Given the description of an element on the screen output the (x, y) to click on. 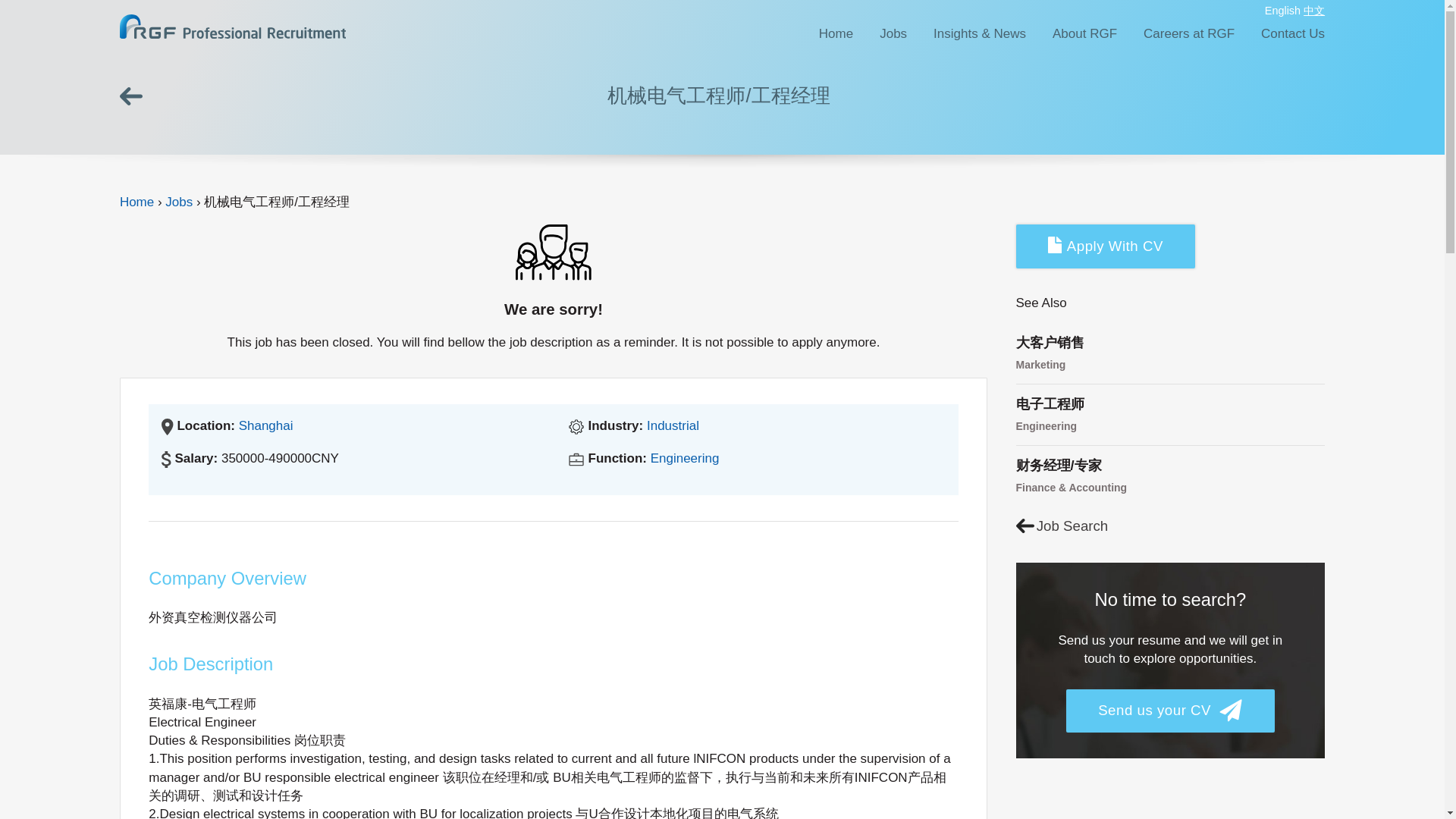
Job Search (1062, 525)
Apply With CV (1105, 245)
About RGF (1084, 33)
Industrial (672, 425)
Jobs (892, 33)
Jobs (178, 201)
Send us your CV (1170, 710)
Home (136, 201)
Contact Us (1292, 33)
Careers at RGF (1189, 33)
